Given the description of an element on the screen output the (x, y) to click on. 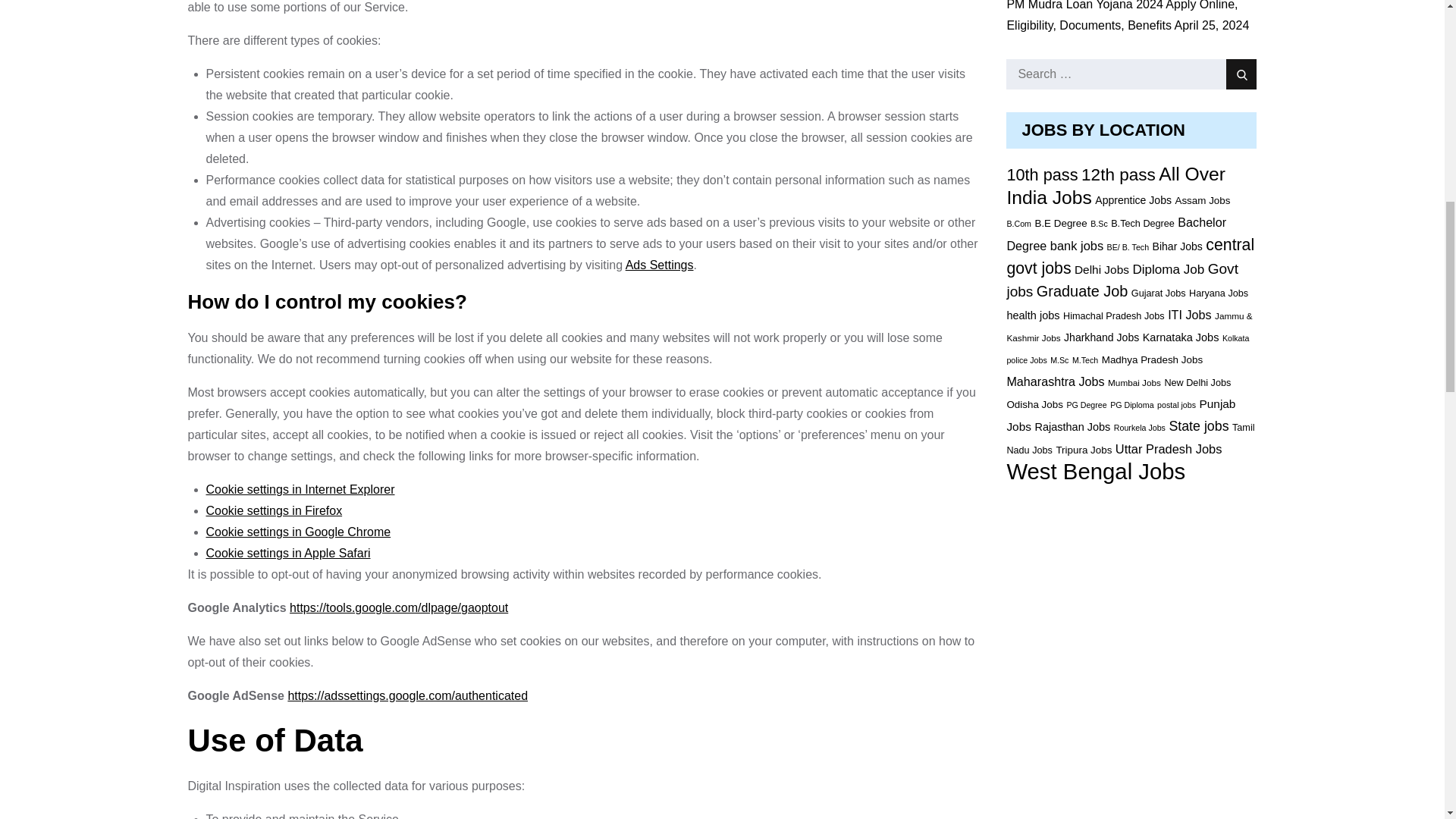
Apprentice Jobs (1133, 200)
Search (1240, 73)
B.Com (1018, 223)
Cookie settings in Firefox (274, 510)
All Over India Jobs (1115, 185)
Cookie settings in Internet Explorer (300, 489)
Cookie settings in Apple Safari (288, 553)
Cookie settings in Google Chrome (298, 531)
12th pass (1118, 174)
